Given the description of an element on the screen output the (x, y) to click on. 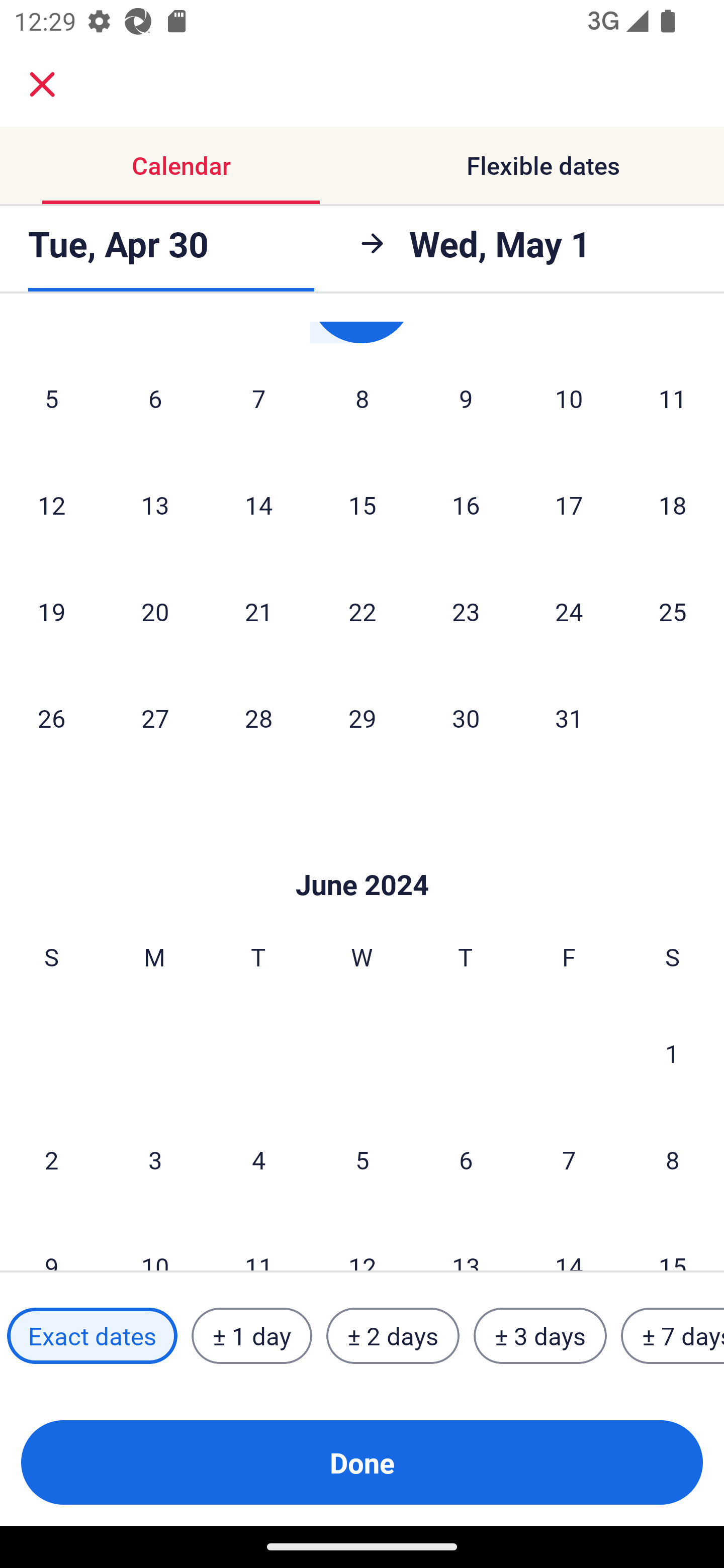
close. (42, 84)
Flexible dates (542, 164)
5 Sunday, May 5, 2024 (51, 398)
6 Monday, May 6, 2024 (155, 398)
7 Tuesday, May 7, 2024 (258, 398)
8 Wednesday, May 8, 2024 (362, 398)
9 Thursday, May 9, 2024 (465, 398)
10 Friday, May 10, 2024 (569, 398)
11 Saturday, May 11, 2024 (672, 398)
12 Sunday, May 12, 2024 (51, 504)
13 Monday, May 13, 2024 (155, 504)
14 Tuesday, May 14, 2024 (258, 504)
15 Wednesday, May 15, 2024 (362, 504)
16 Thursday, May 16, 2024 (465, 504)
17 Friday, May 17, 2024 (569, 504)
18 Saturday, May 18, 2024 (672, 504)
19 Sunday, May 19, 2024 (51, 611)
20 Monday, May 20, 2024 (155, 611)
21 Tuesday, May 21, 2024 (258, 611)
22 Wednesday, May 22, 2024 (362, 611)
23 Thursday, May 23, 2024 (465, 611)
24 Friday, May 24, 2024 (569, 611)
25 Saturday, May 25, 2024 (672, 611)
26 Sunday, May 26, 2024 (51, 717)
27 Monday, May 27, 2024 (155, 717)
28 Tuesday, May 28, 2024 (258, 717)
29 Wednesday, May 29, 2024 (362, 717)
30 Thursday, May 30, 2024 (465, 717)
31 Friday, May 31, 2024 (569, 717)
Skip to Done (362, 854)
1 Saturday, June 1, 2024 (672, 1052)
2 Sunday, June 2, 2024 (51, 1159)
3 Monday, June 3, 2024 (155, 1159)
4 Tuesday, June 4, 2024 (258, 1159)
5 Wednesday, June 5, 2024 (362, 1159)
6 Thursday, June 6, 2024 (465, 1159)
7 Friday, June 7, 2024 (569, 1159)
8 Saturday, June 8, 2024 (672, 1159)
Exact dates (92, 1335)
± 1 day (251, 1335)
± 2 days (392, 1335)
± 3 days (539, 1335)
± 7 days (672, 1335)
Done (361, 1462)
